Given the description of an element on the screen output the (x, y) to click on. 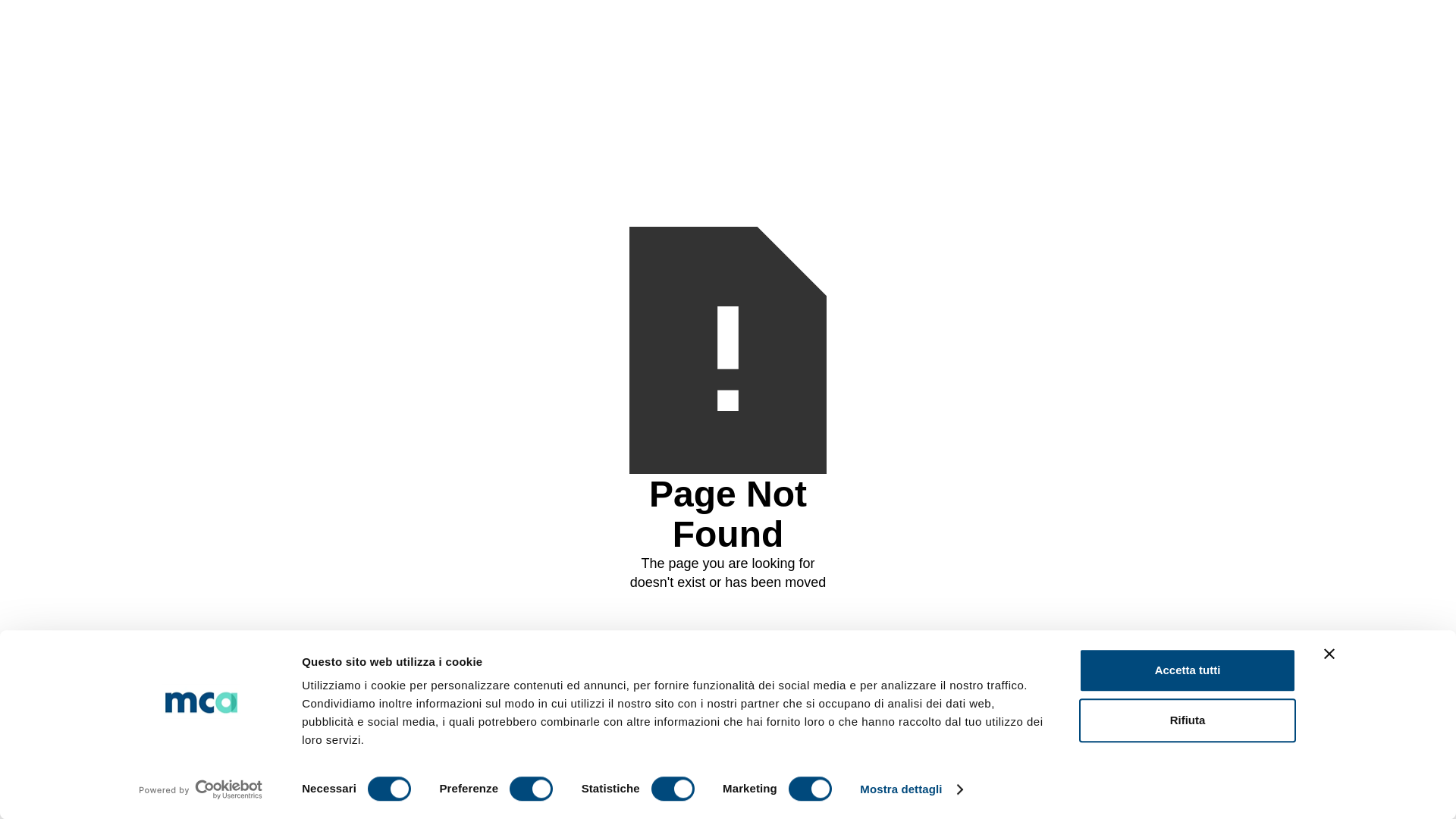
Rifiuta (1186, 720)
Mostra dettagli (910, 789)
Accetta tutti (1186, 670)
